Given the description of an element on the screen output the (x, y) to click on. 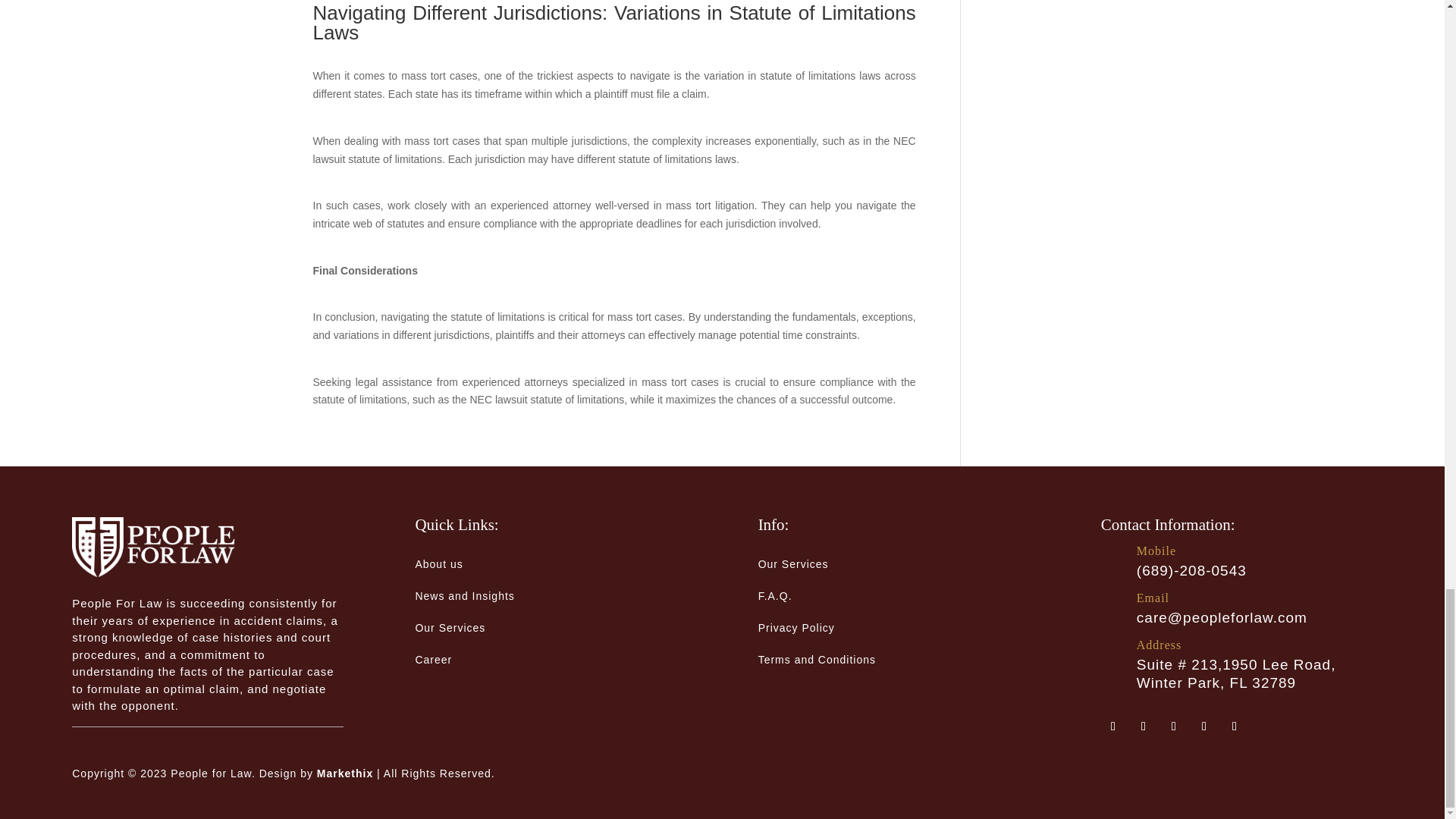
Follow on Youtube (1234, 726)
white-logo (152, 546)
Follow on Facebook (1112, 726)
Follow on Instagram (1143, 726)
Follow on LinkedIn (1203, 726)
Follow on X (1173, 726)
